Given the description of an element on the screen output the (x, y) to click on. 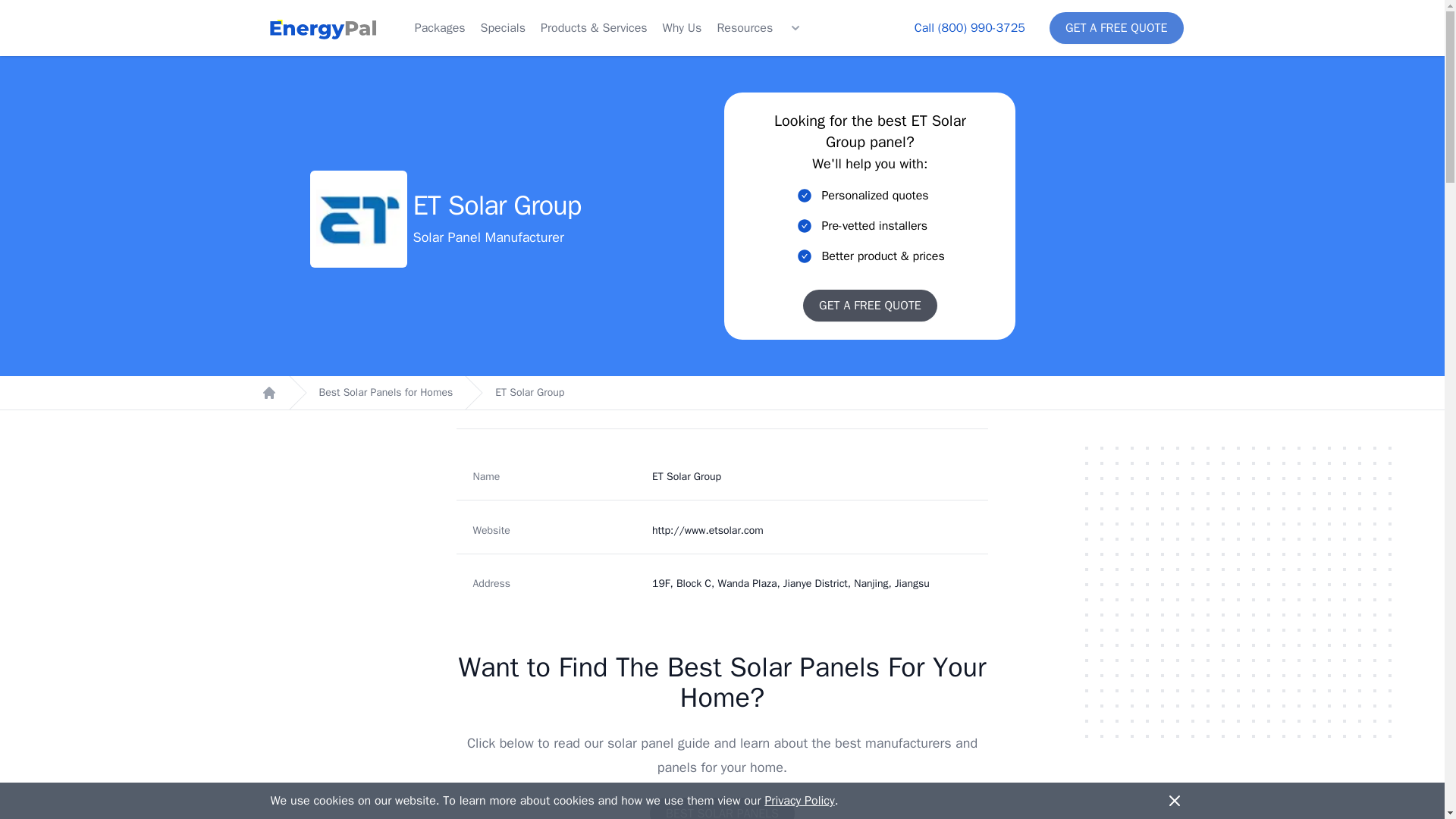
GET A FREE QUOTE (1116, 28)
BEST SOLAR PANELS (721, 808)
ET Solar Group (529, 392)
Best Solar Panels for Homes (385, 392)
Resources (744, 27)
Specials (502, 27)
GET A FREE QUOTE (870, 305)
Packages (439, 27)
Why Us (681, 27)
EnergyPal (322, 28)
Home (268, 392)
